Given the description of an element on the screen output the (x, y) to click on. 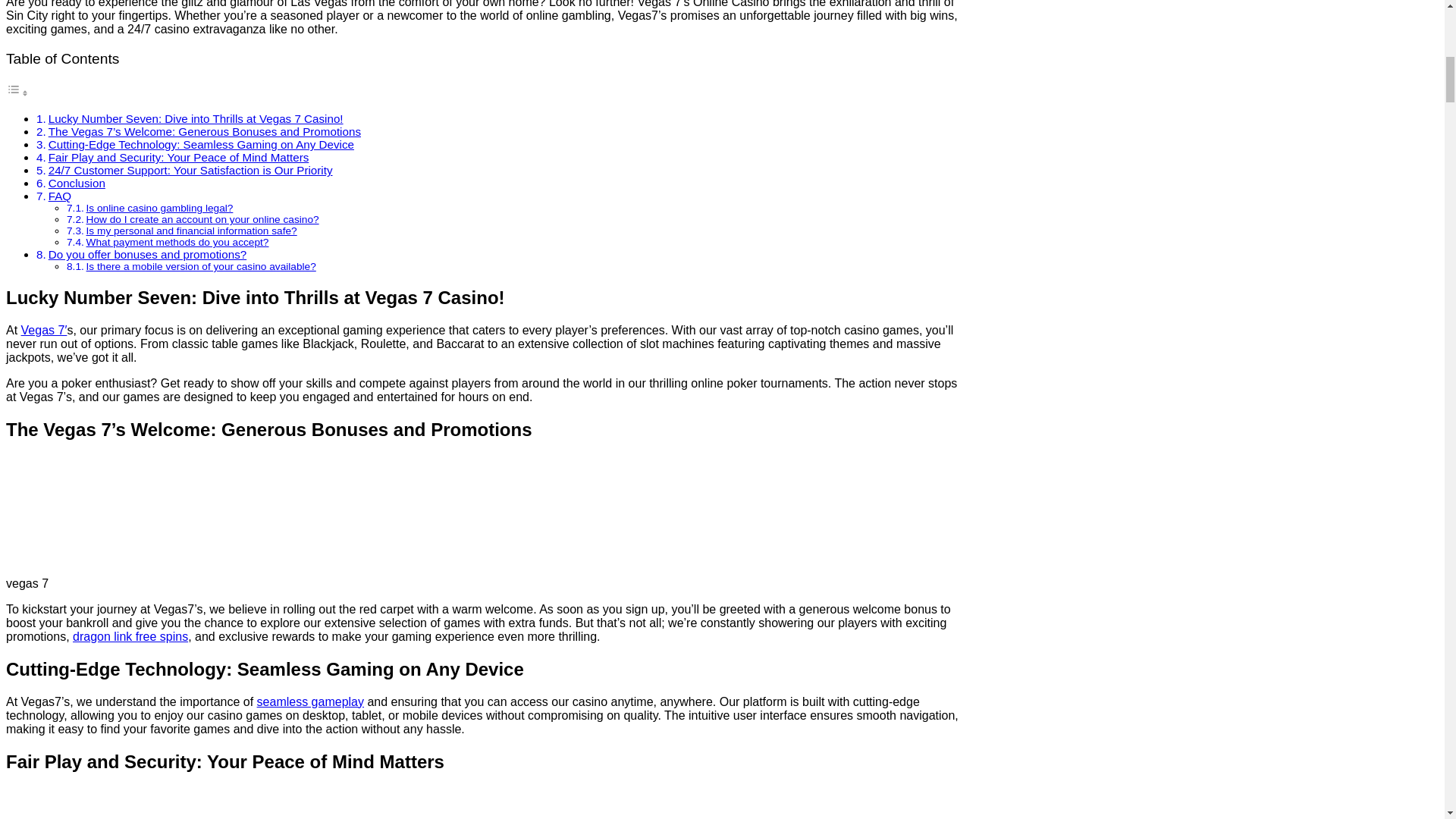
Is online casino gambling legal? (158, 207)
FAQ (59, 195)
Cutting-Edge Technology: Seamless Gaming on Any Device (200, 144)
Is there a mobile version of your casino available? (200, 266)
Fair Play and Security: Your Peace of Mind Matters (178, 156)
FAQ (59, 195)
Do you offer bonuses and promotions? (147, 254)
Do you offer bonuses and promotions? (147, 254)
What payment methods do you accept? (177, 242)
Lucky Number Seven: Dive into Thrills at Vegas 7 Casino! (195, 118)
